Given the description of an element on the screen output the (x, y) to click on. 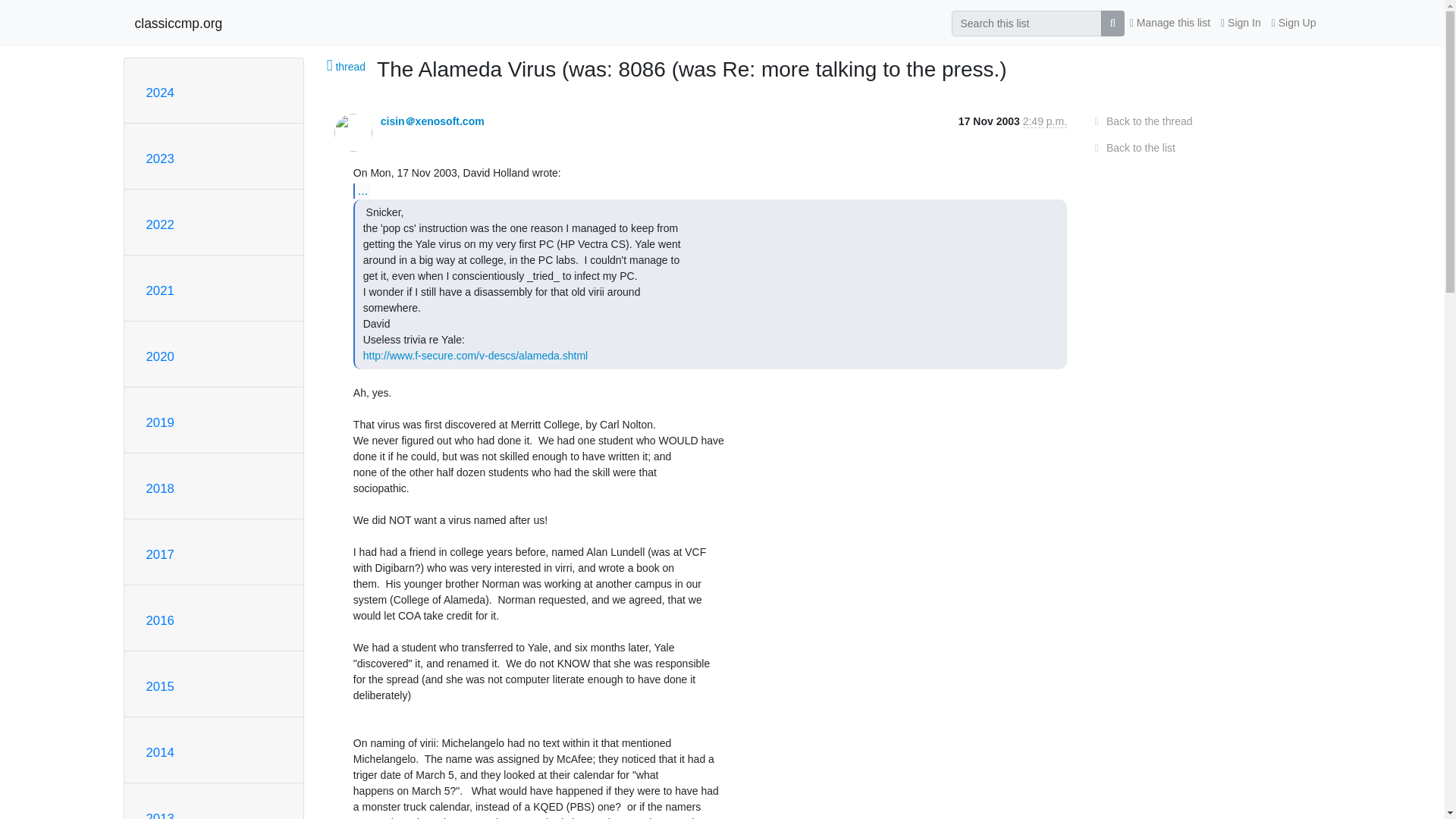
Sign Up (1294, 22)
2023 (159, 158)
2022 (159, 224)
Sender's time: Nov. 17, 2003, 7:49 p.m. (1045, 121)
classiccmp.org (178, 22)
Manage this list (1169, 22)
Sign In (1240, 22)
2024 (159, 92)
